Given the description of an element on the screen output the (x, y) to click on. 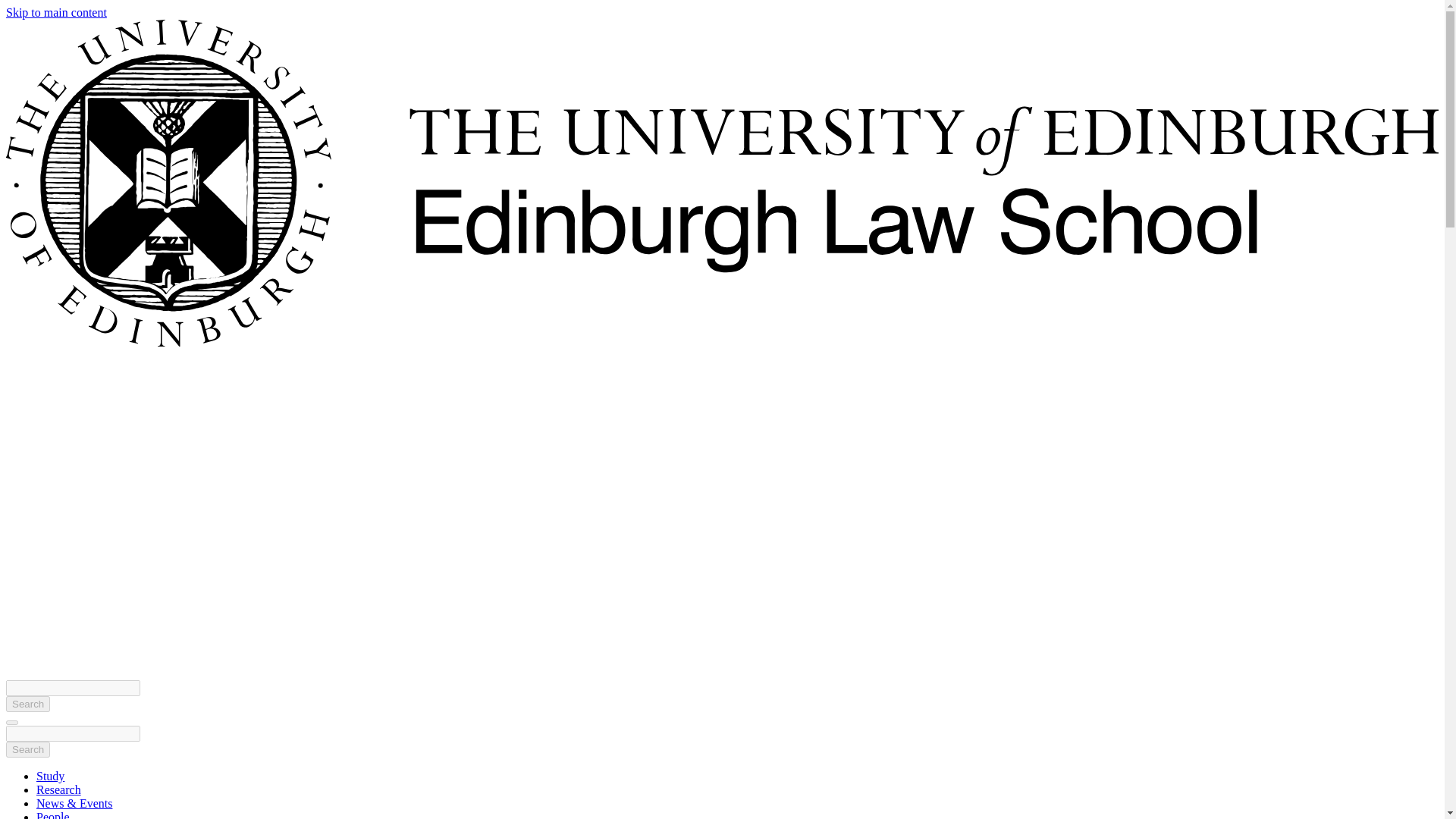
Search (27, 703)
Skip to main content (55, 11)
People (52, 814)
Research (58, 789)
Search (27, 749)
Study (50, 775)
